Given the description of an element on the screen output the (x, y) to click on. 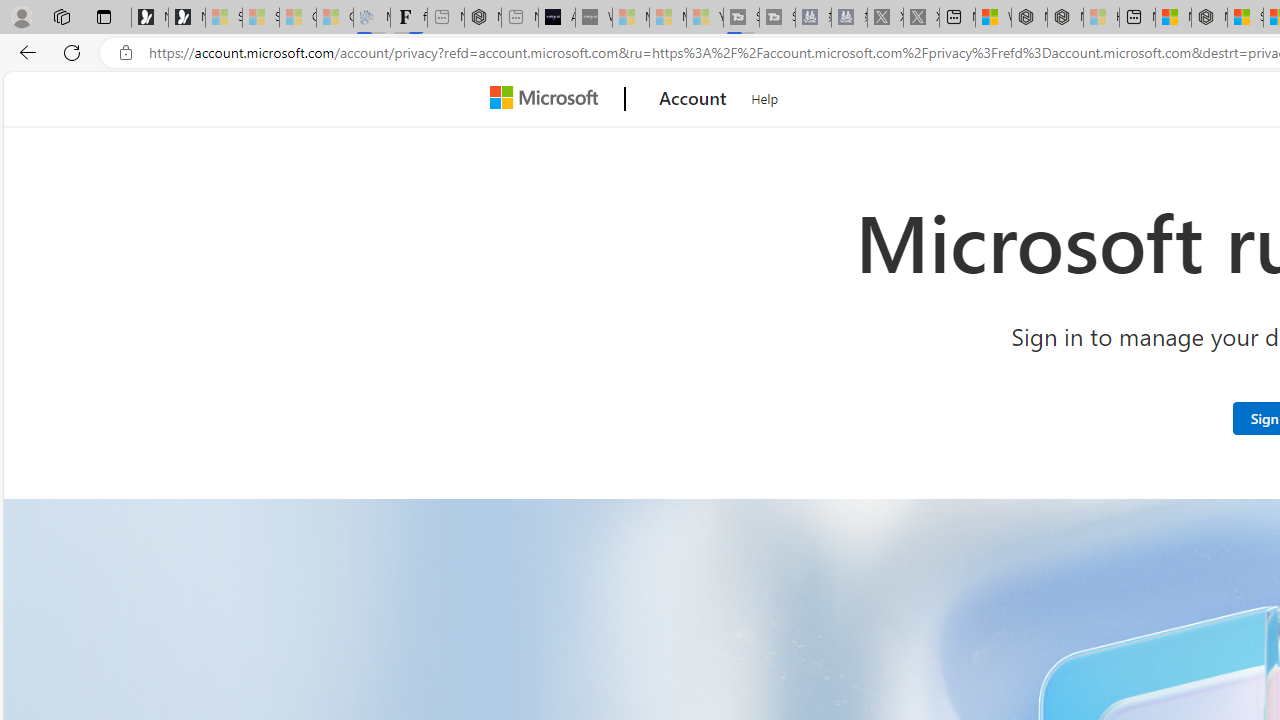
Help (765, 96)
Wildlife - MSN (993, 17)
Newsletter Sign Up (186, 17)
Account (692, 99)
Nordace - Nordace Siena Is Not An Ordinary Backpack (1209, 17)
Microsoft Start Sports - Sleeping (630, 17)
